Given the description of an element on the screen output the (x, y) to click on. 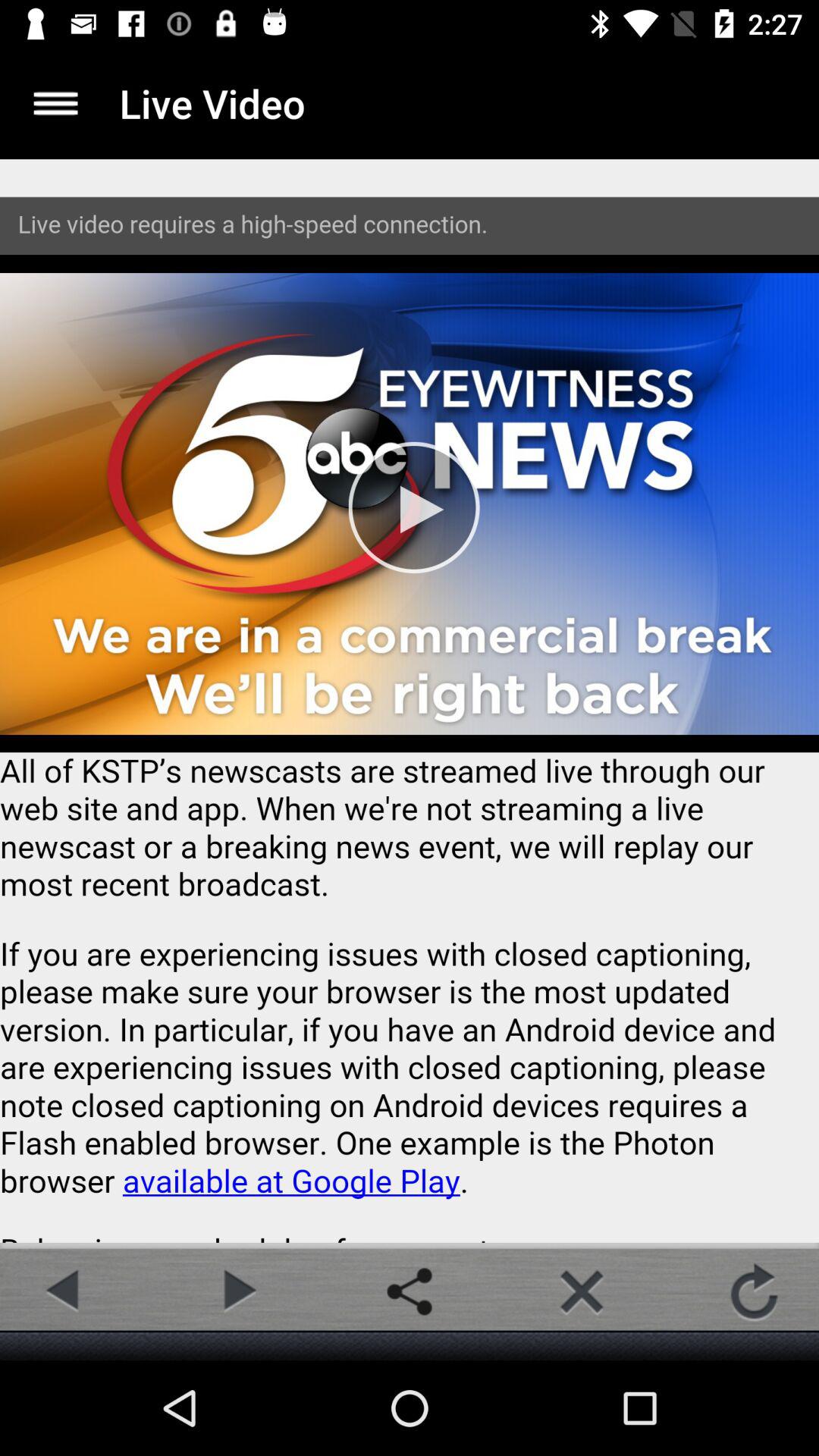
share button (409, 1291)
